Given the description of an element on the screen output the (x, y) to click on. 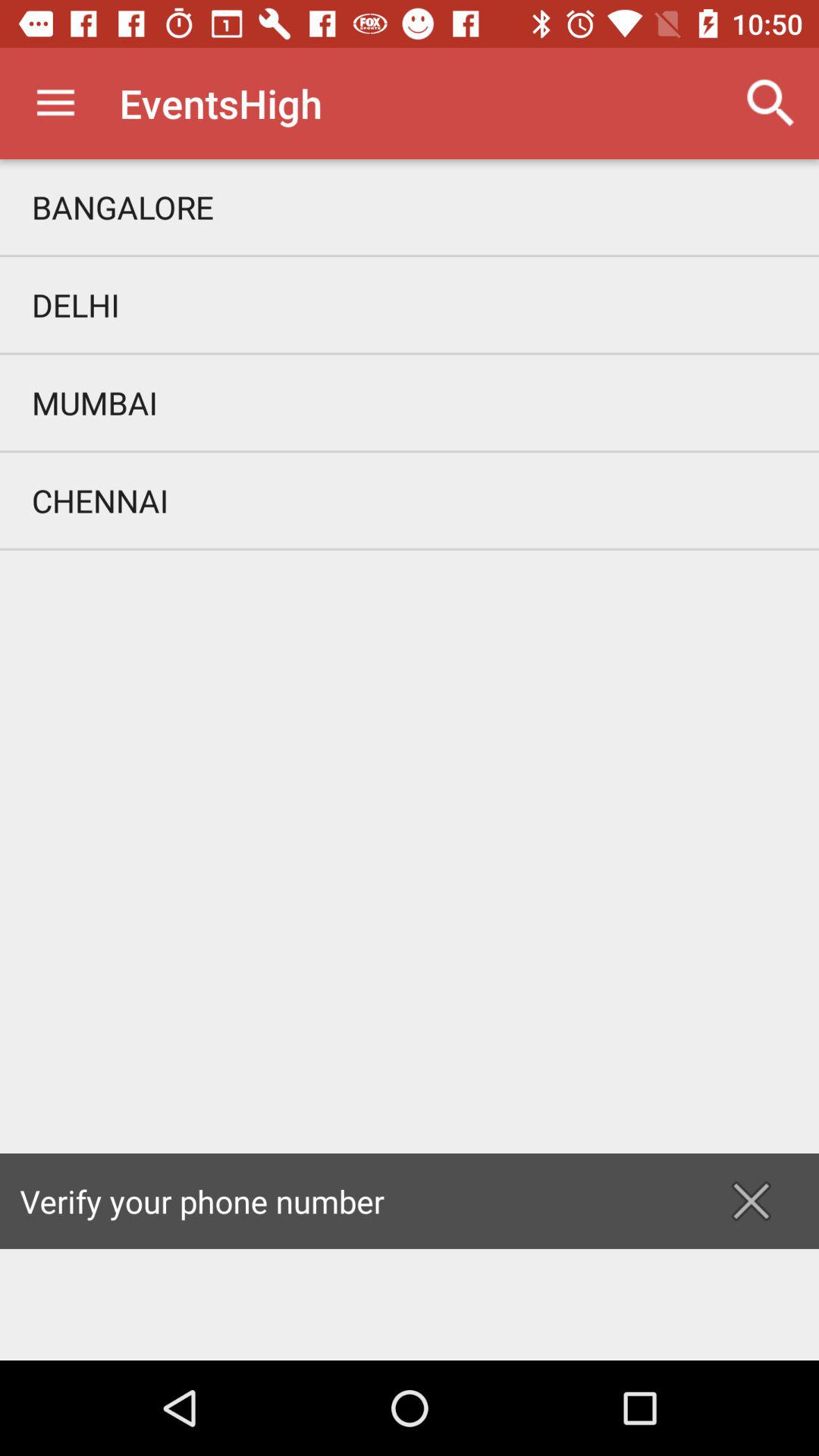
launch item above mumbai (409, 304)
